Given the description of an element on the screen output the (x, y) to click on. 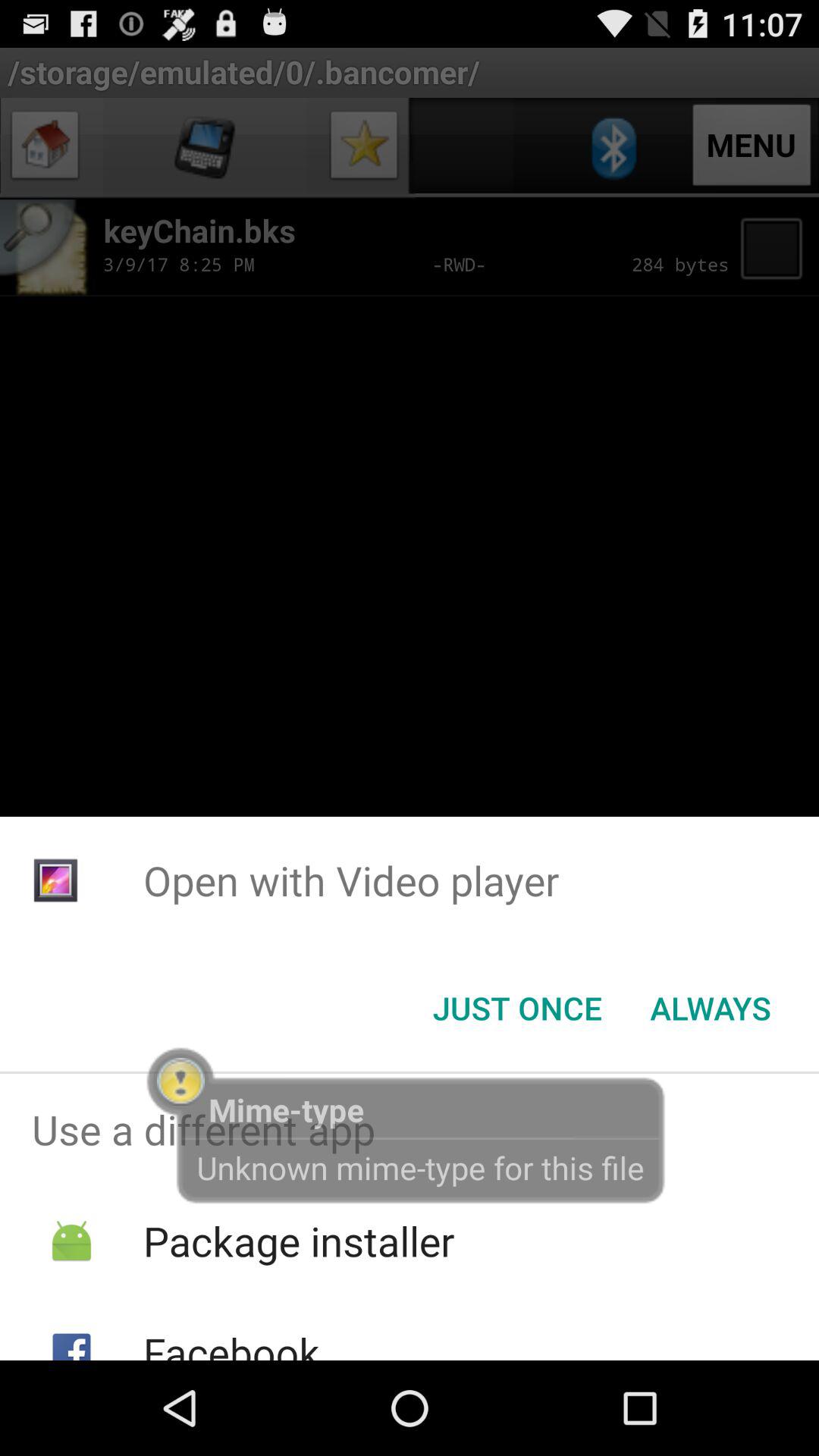
launch button at the bottom right corner (710, 1007)
